Given the description of an element on the screen output the (x, y) to click on. 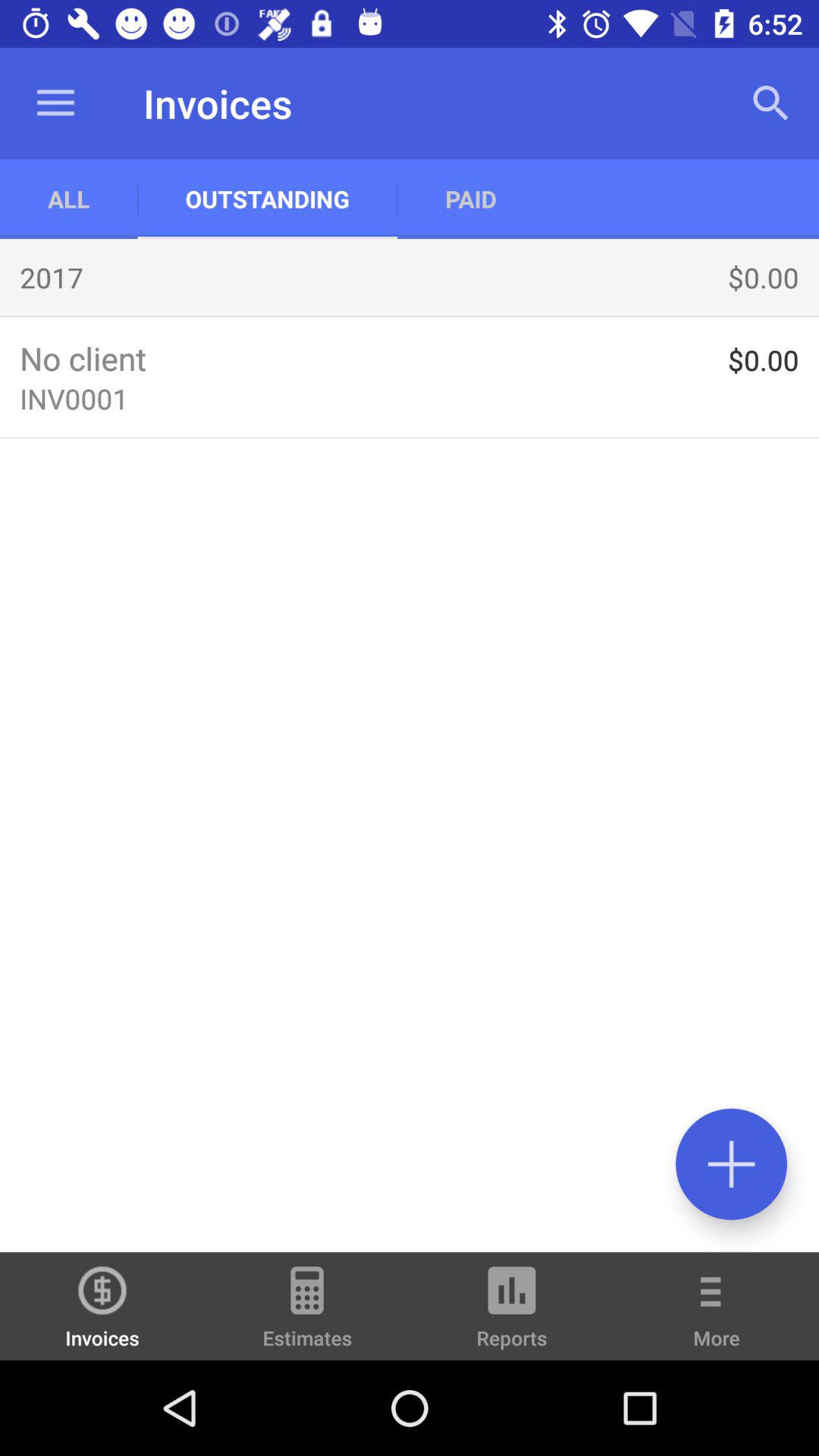
press paid item (470, 198)
